Given the description of an element on the screen output the (x, y) to click on. 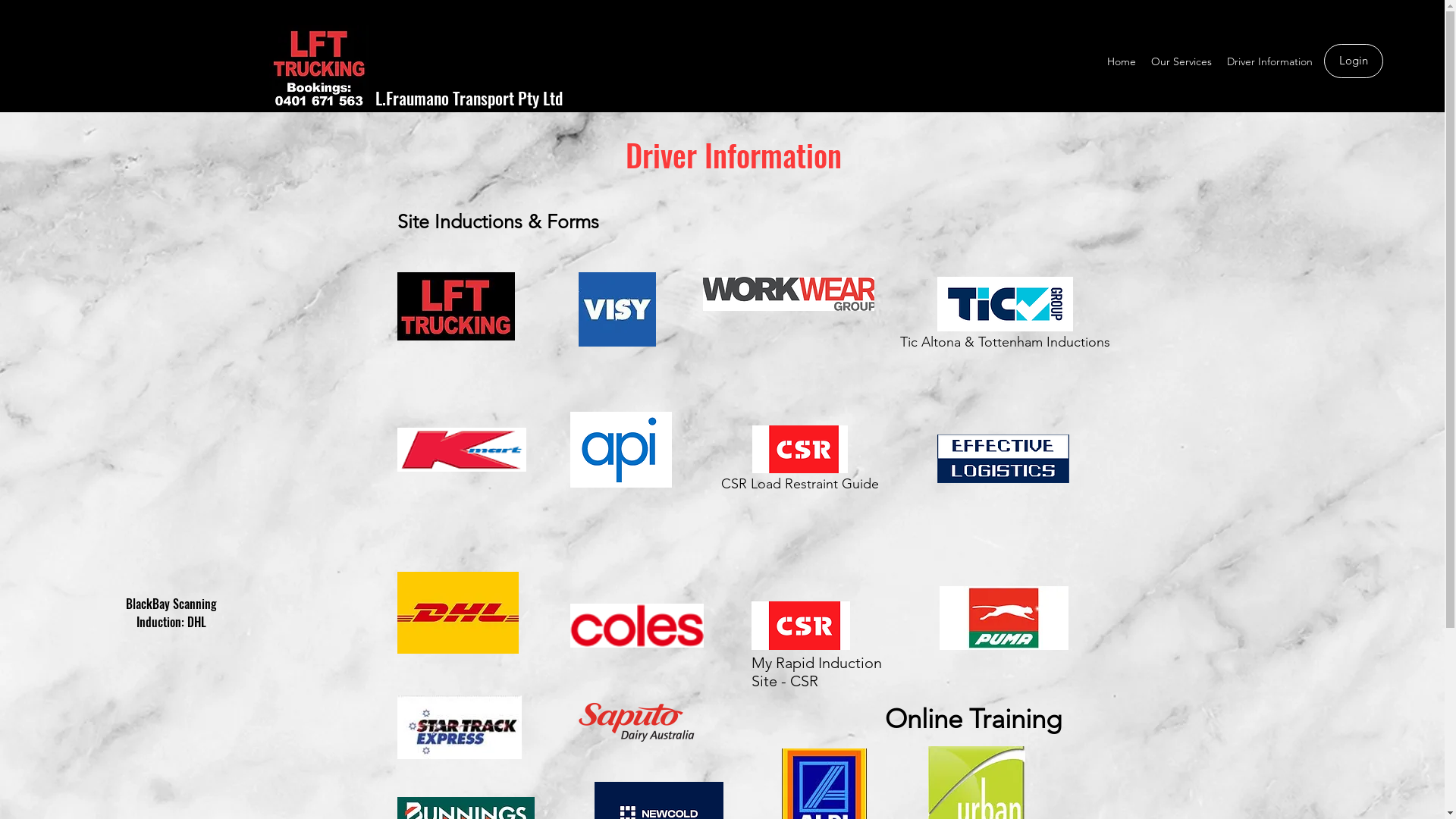
CSR Load Restraint Guide Element type: text (799, 462)
Tic Altona & Tottenham Inductions Element type: text (1004, 317)
csr.png Element type: hover (799, 625)
L.Fraumano Transport Pty Ltd Element type: text (467, 97)
Driver Information Element type: text (1269, 61)
Home Element type: text (1121, 61)
Login Element type: text (1353, 60)
Our Services Element type: text (1181, 61)
